Given the description of an element on the screen output the (x, y) to click on. 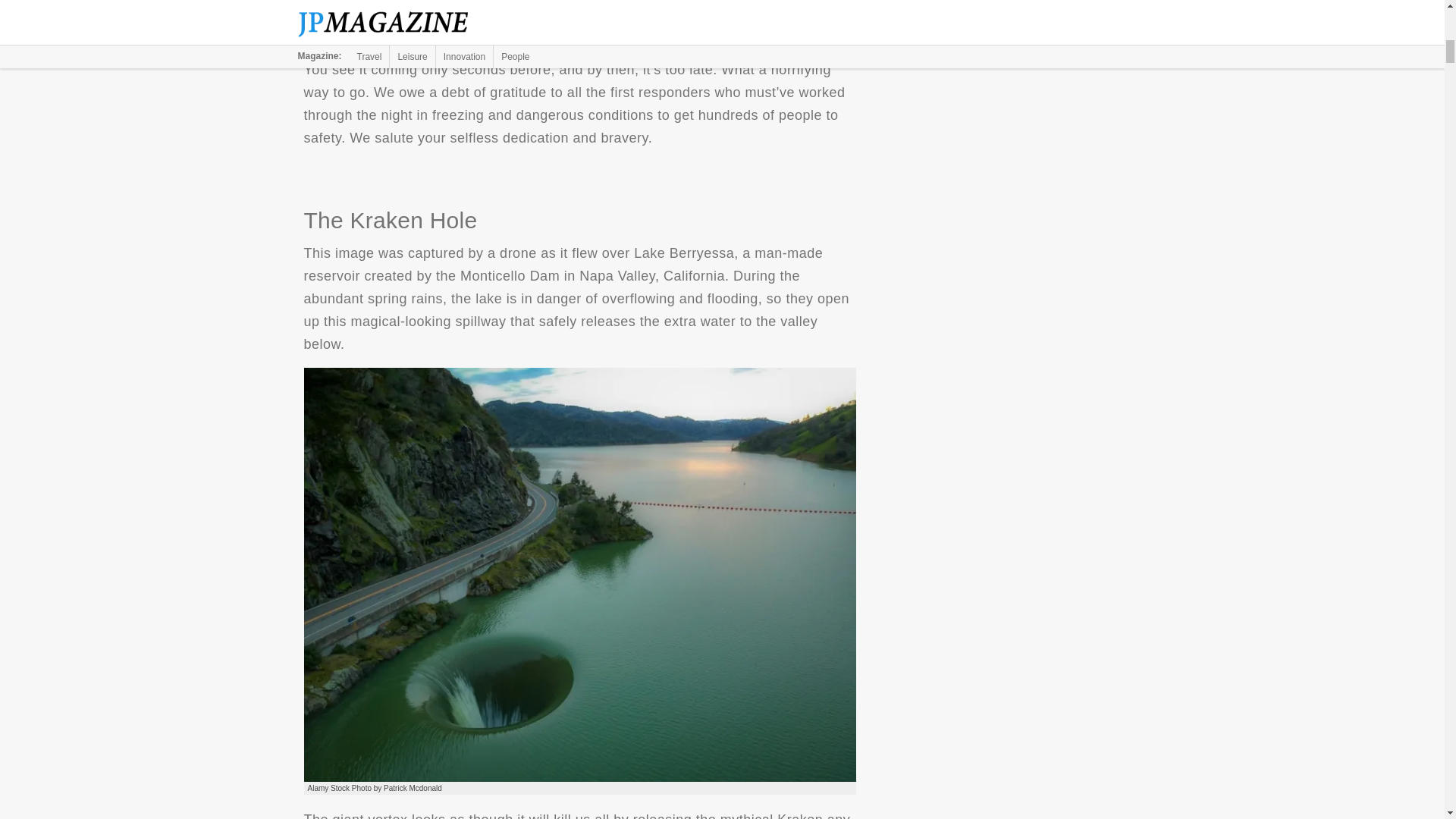
Snowy Pileup (579, 16)
